Given the description of an element on the screen output the (x, y) to click on. 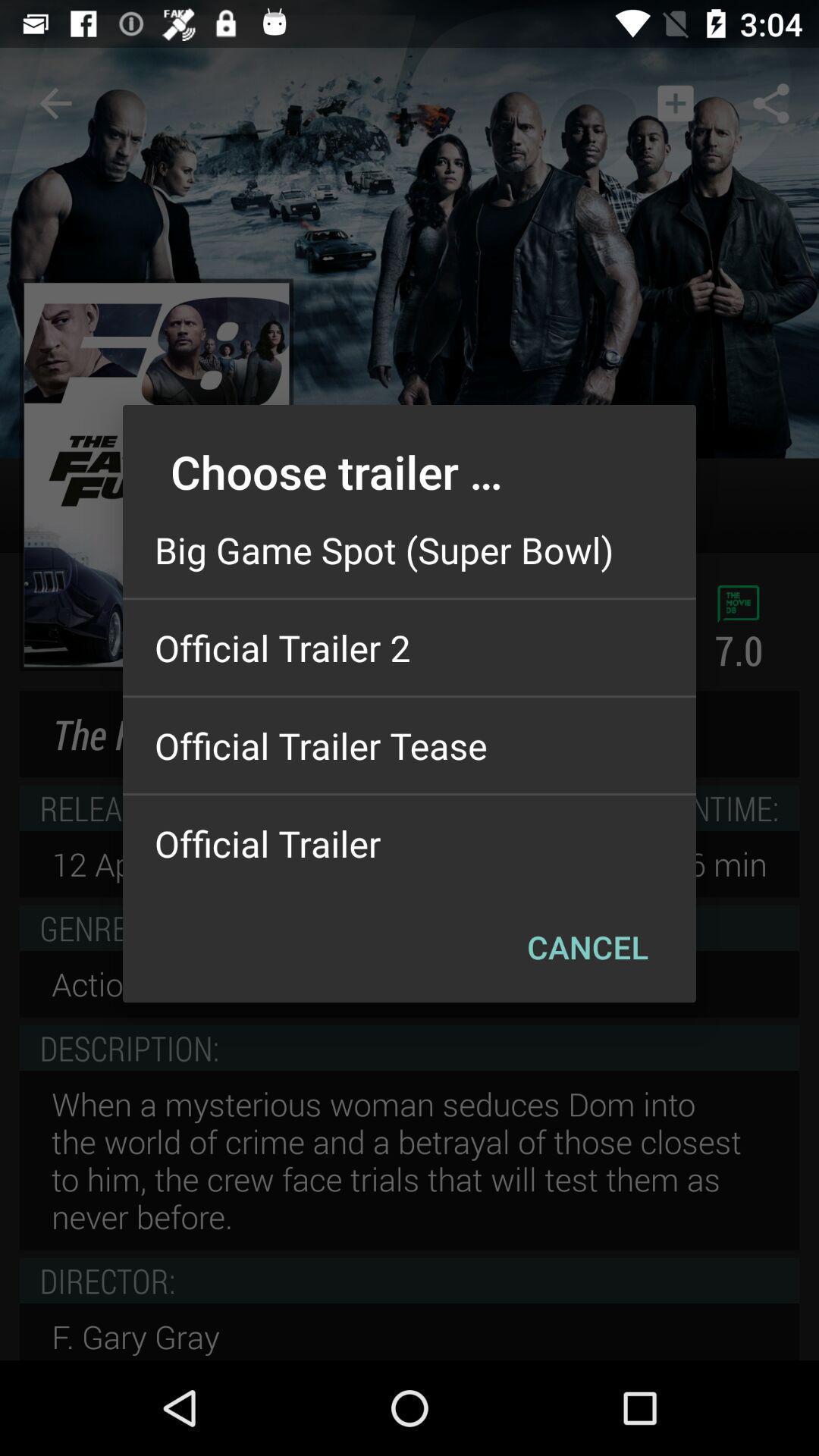
scroll to the big game spot icon (409, 549)
